Given the description of an element on the screen output the (x, y) to click on. 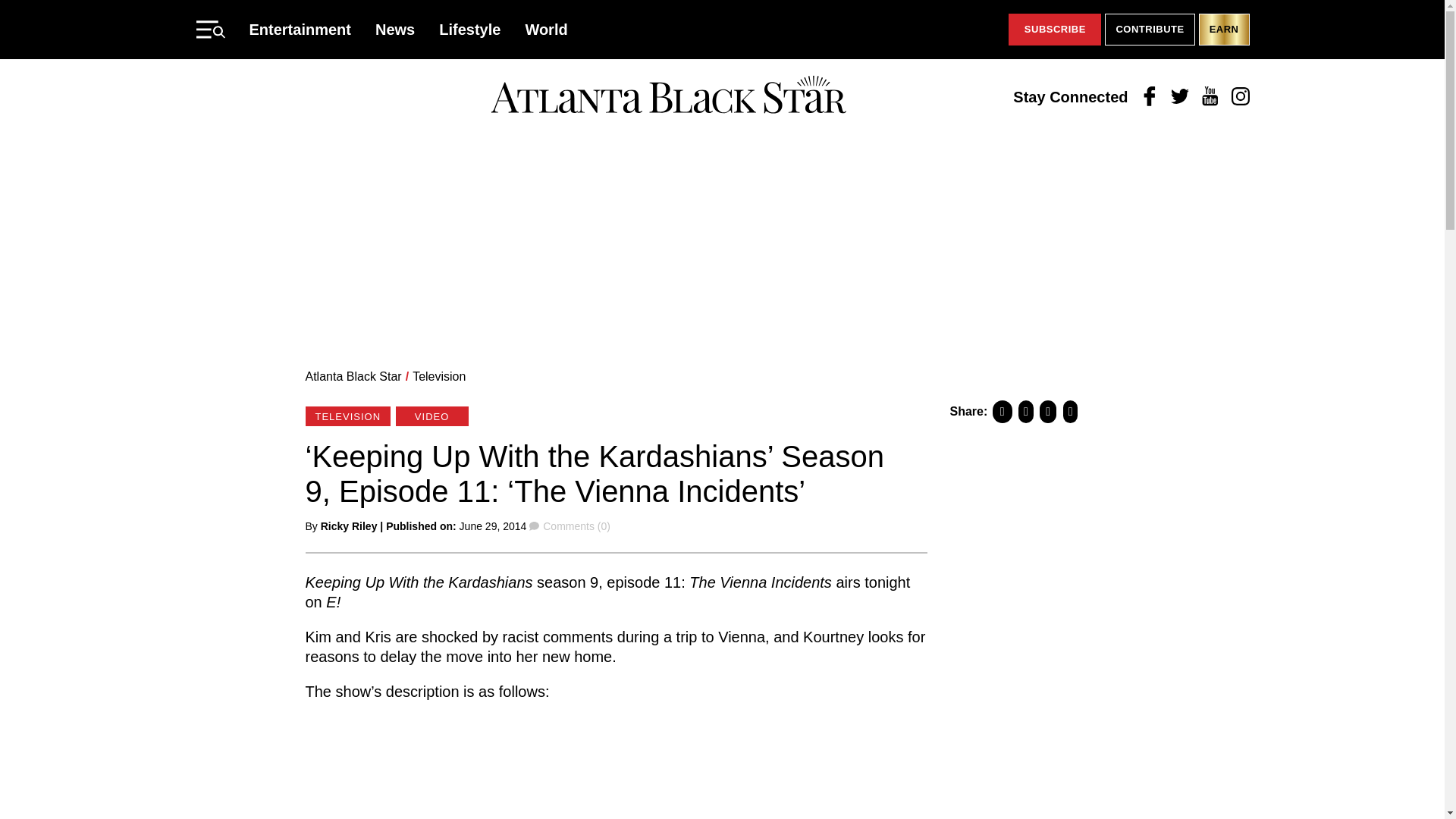
News (394, 29)
Go to the Television Category archives. (438, 376)
Television (438, 376)
Atlanta Black Star (667, 96)
Entertainment (299, 29)
CONTRIBUTE (1149, 29)
Lifestyle (469, 29)
Go to Atlanta Black Star. (352, 376)
EARN (1223, 29)
World (545, 29)
Atlanta Black Star (352, 376)
SUBSCRIBE (1054, 29)
